Given the description of an element on the screen output the (x, y) to click on. 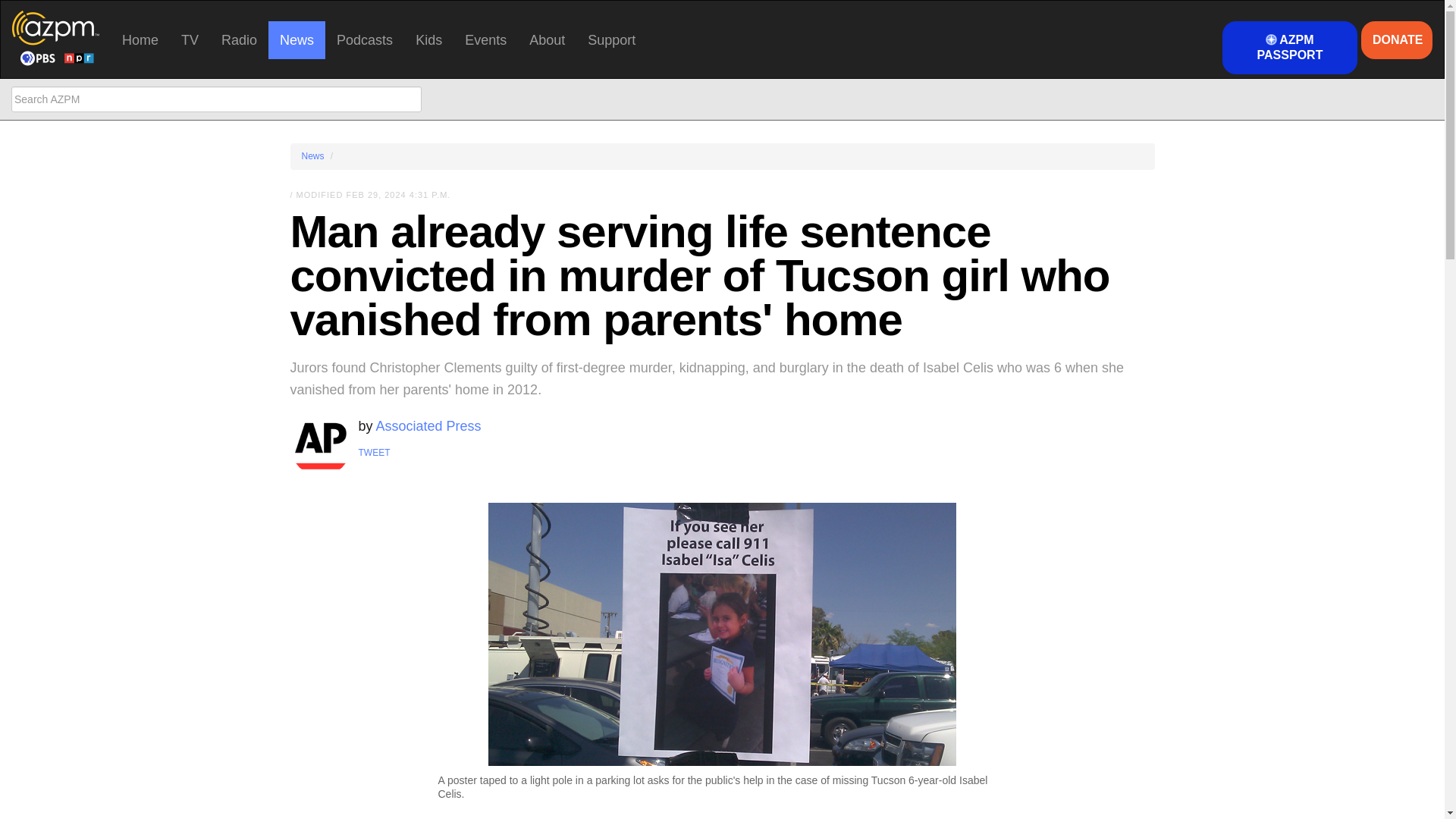
Podcasts (364, 39)
News (295, 39)
Radio (238, 39)
TV (189, 39)
Home (140, 39)
Events (485, 39)
About (547, 39)
Kids (428, 39)
